Given the description of an element on the screen output the (x, y) to click on. 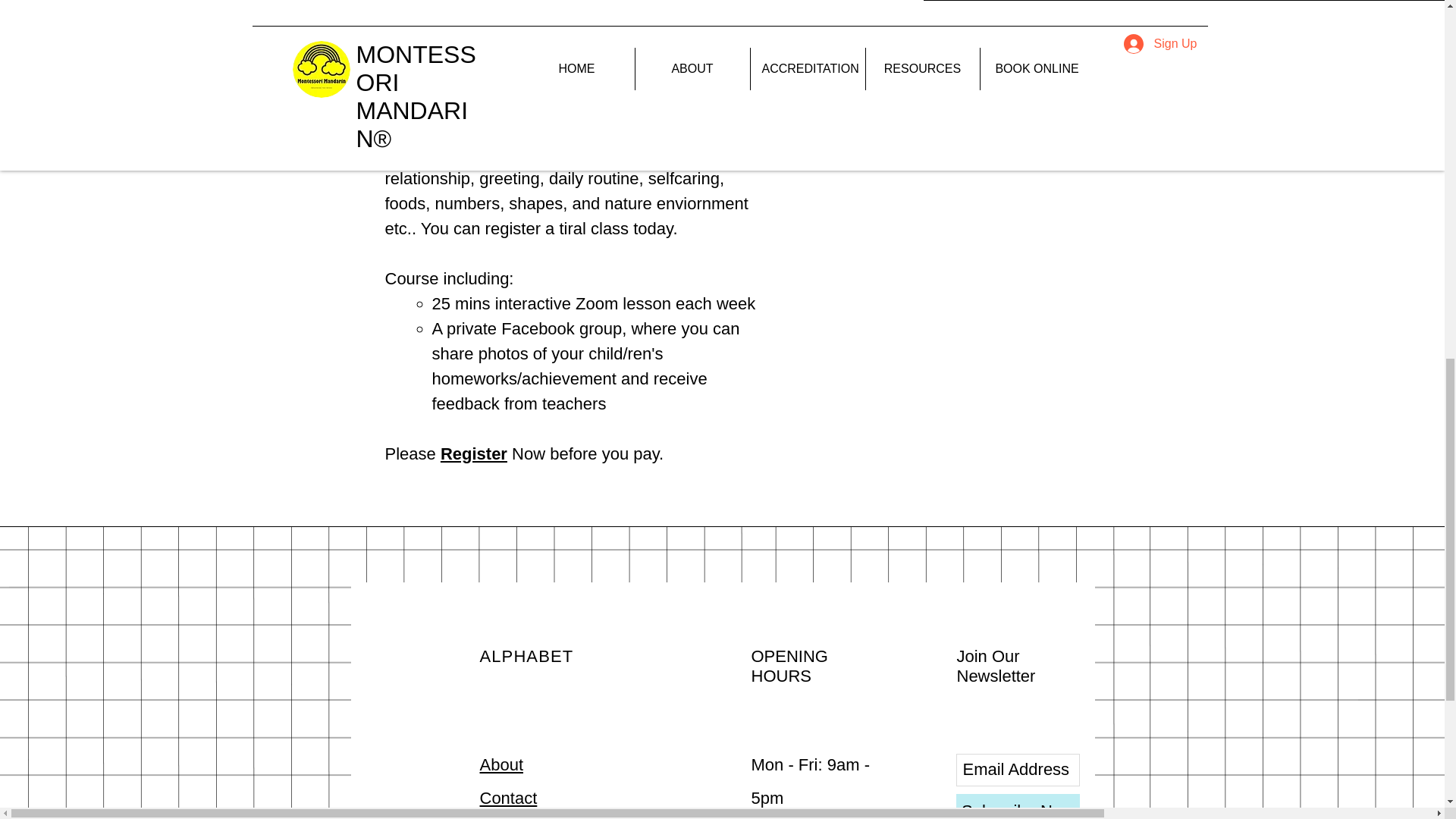
About (500, 764)
Contact (508, 797)
Subscribe Now (1016, 806)
Register (473, 453)
